Given the description of an element on the screen output the (x, y) to click on. 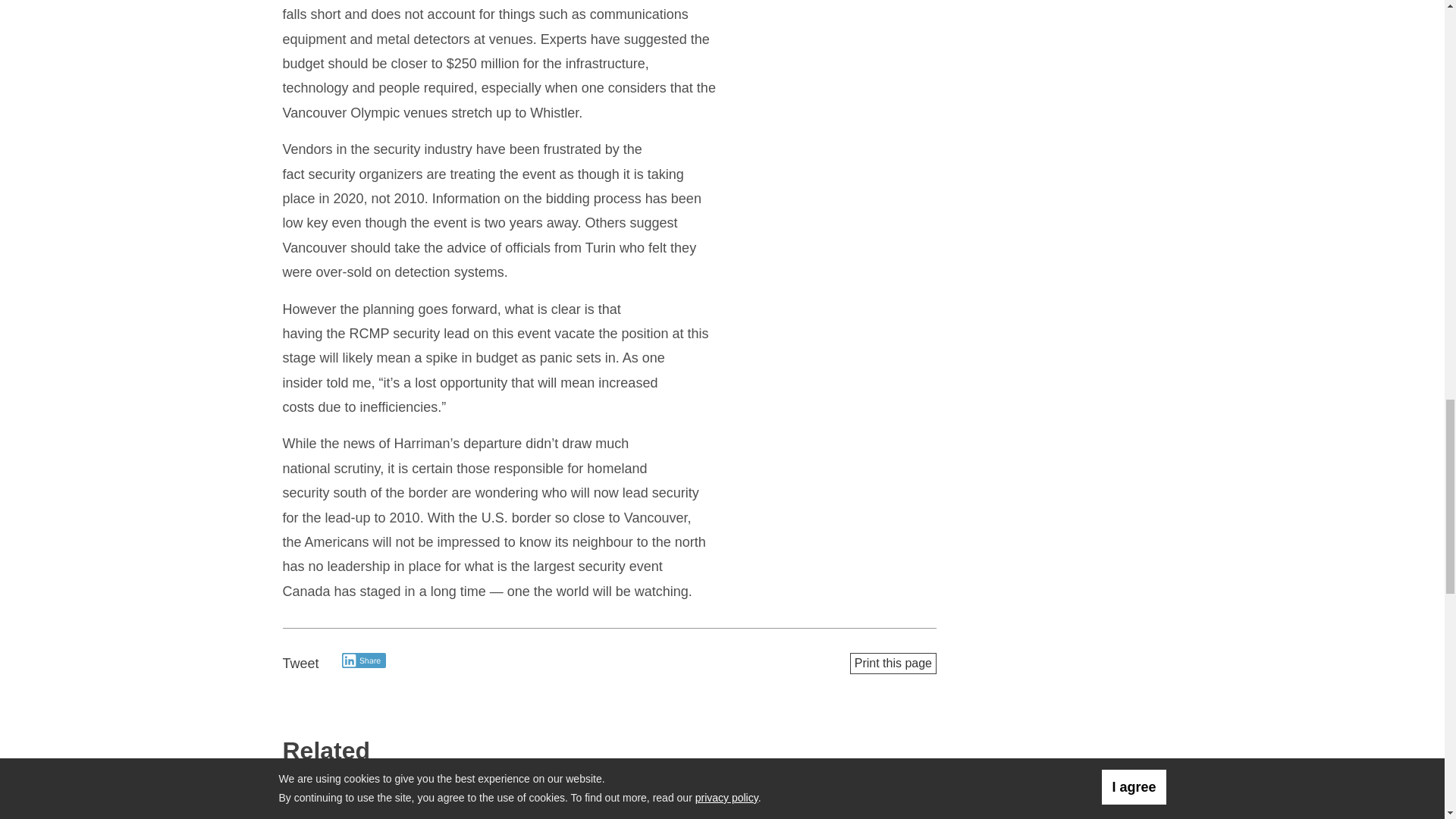
3rd party ad content (1060, 26)
